Given the description of an element on the screen output the (x, y) to click on. 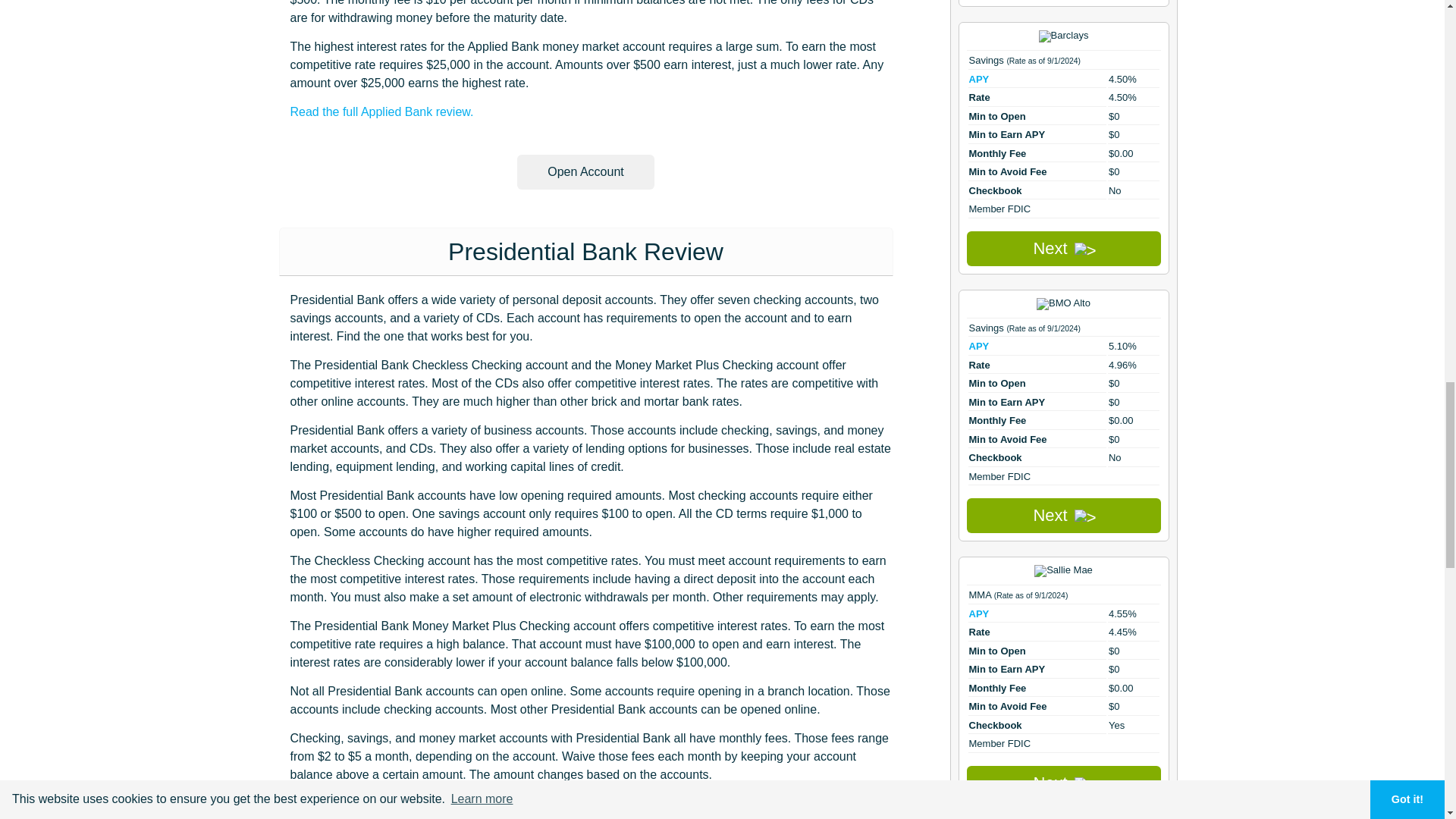
Next (1063, 782)
BMO Alto (1063, 304)
Read the full Presidential Bank review. (392, 802)
Next (1063, 248)
Barclays (1064, 36)
Read the full Applied Bank review. (381, 111)
Open Account (584, 171)
Next (1063, 515)
Sallie Mae (1063, 571)
